Given the description of an element on the screen output the (x, y) to click on. 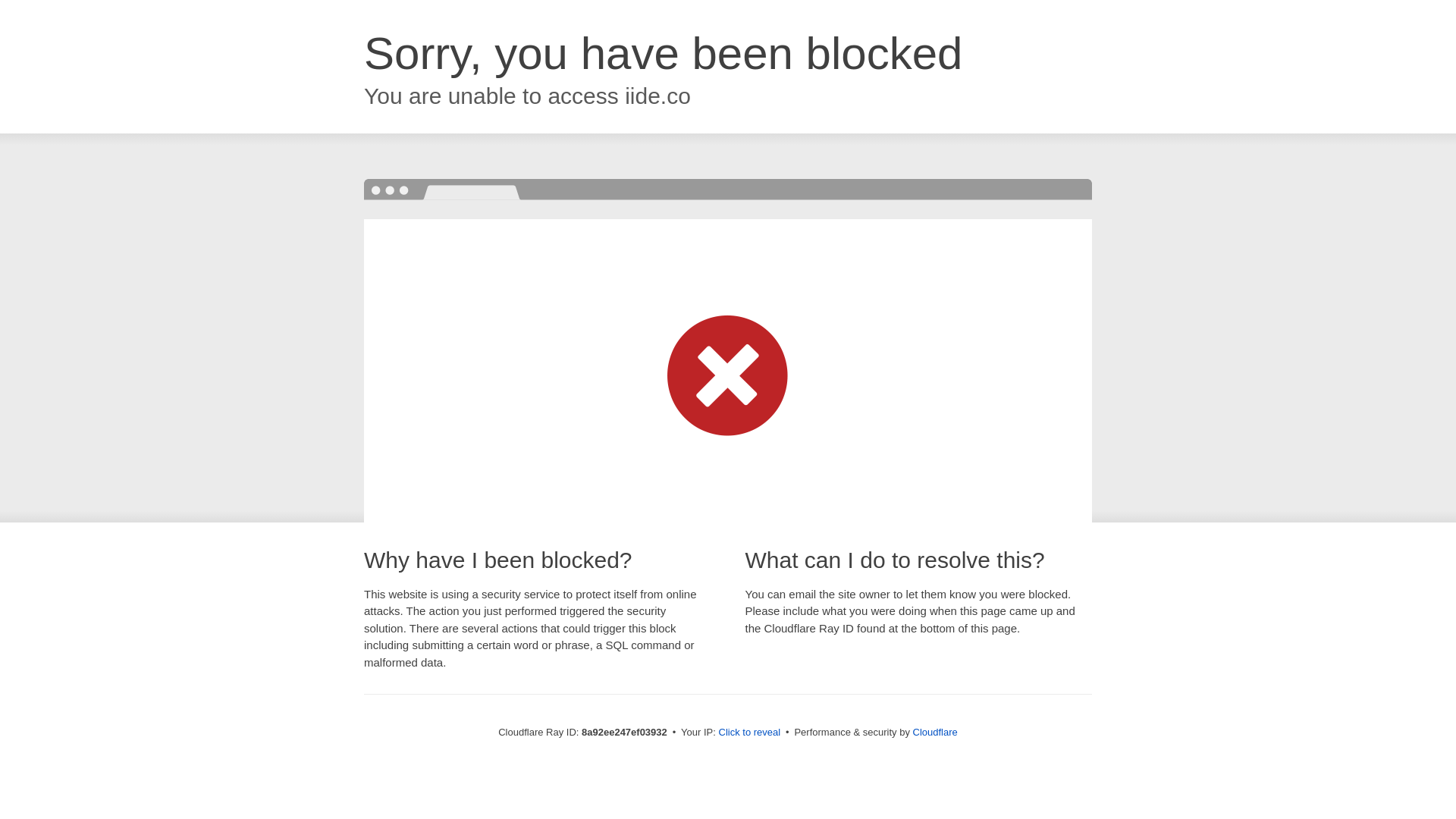
Click to reveal (749, 732)
Cloudflare (935, 731)
